Given the description of an element on the screen output the (x, y) to click on. 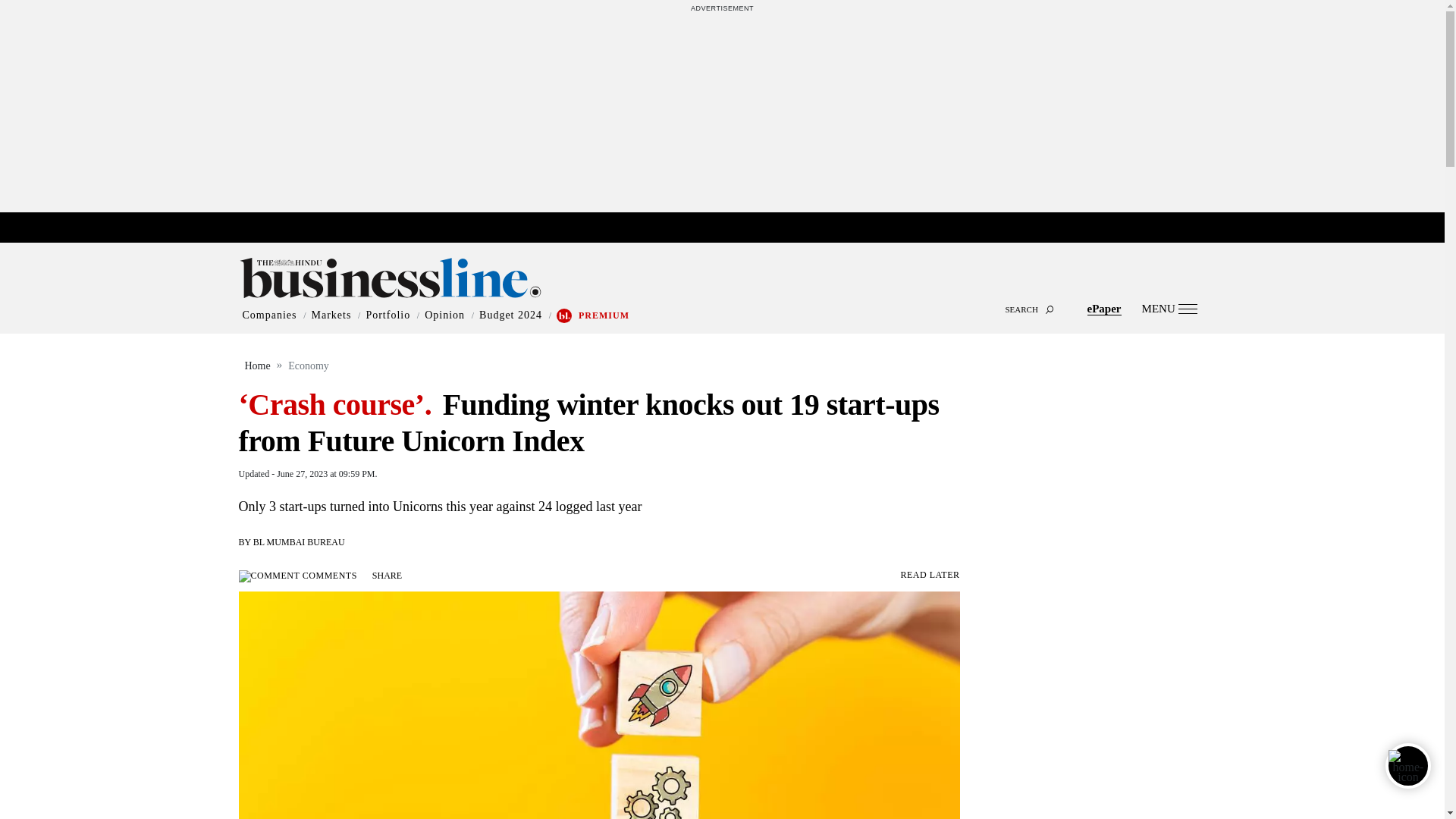
MENU (1168, 308)
ePaper (1104, 308)
Markets (330, 315)
Portfolio (387, 315)
Opinion (444, 315)
Companies (270, 315)
SEARCH (721, 295)
PREMIUM (603, 315)
Budget 2024 (510, 315)
marketupdate (729, 228)
